Given the description of an element on the screen output the (x, y) to click on. 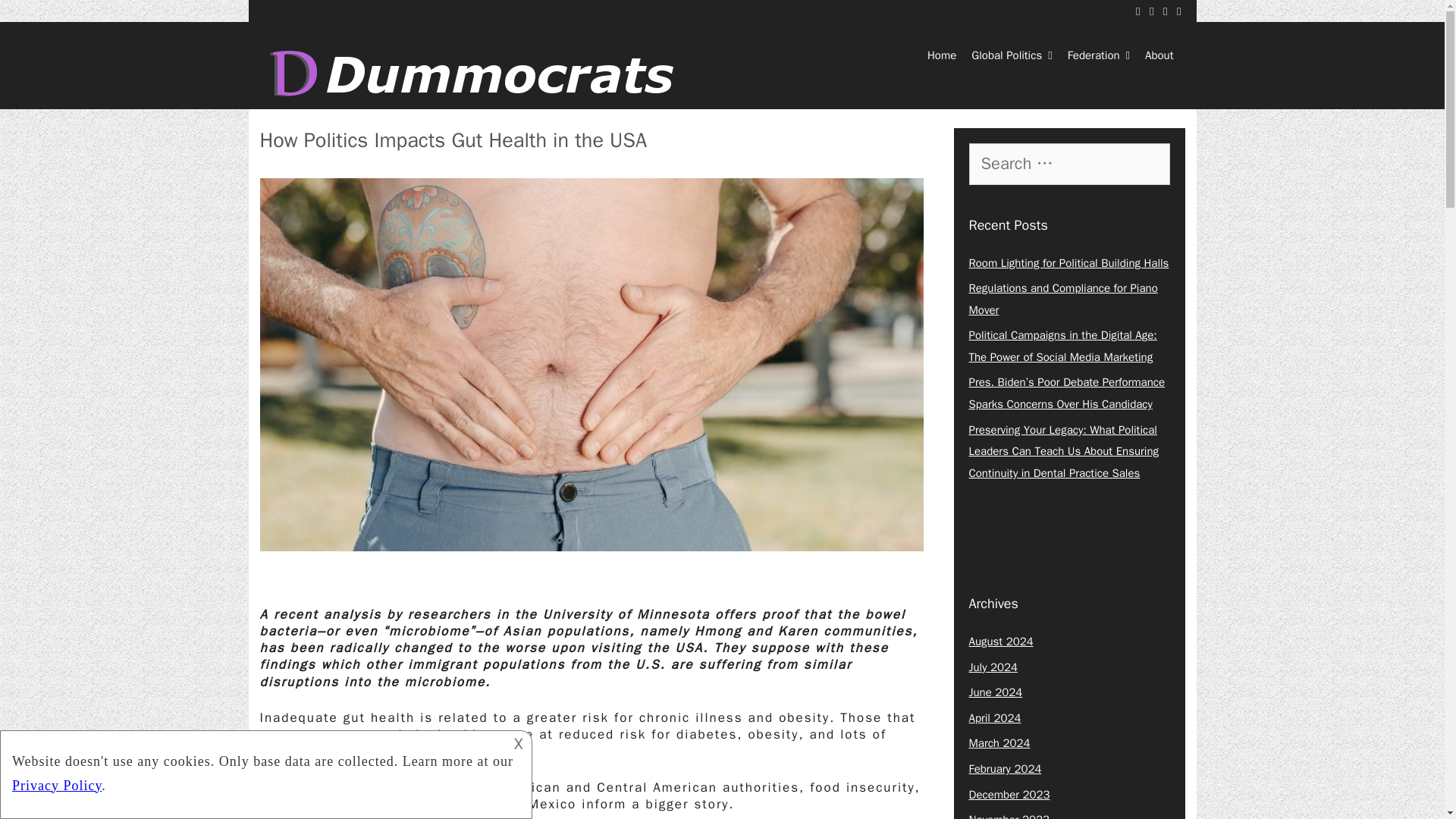
Regulations and Compliance for Piano Mover (1063, 298)
Room Lighting for Political Building Halls (1069, 263)
July 2024 (993, 667)
March 2024 (999, 743)
April 2024 (995, 717)
Federation (1098, 54)
Home (941, 54)
Search for: (1069, 163)
description (264, 772)
Search (37, 19)
